Given the description of an element on the screen output the (x, y) to click on. 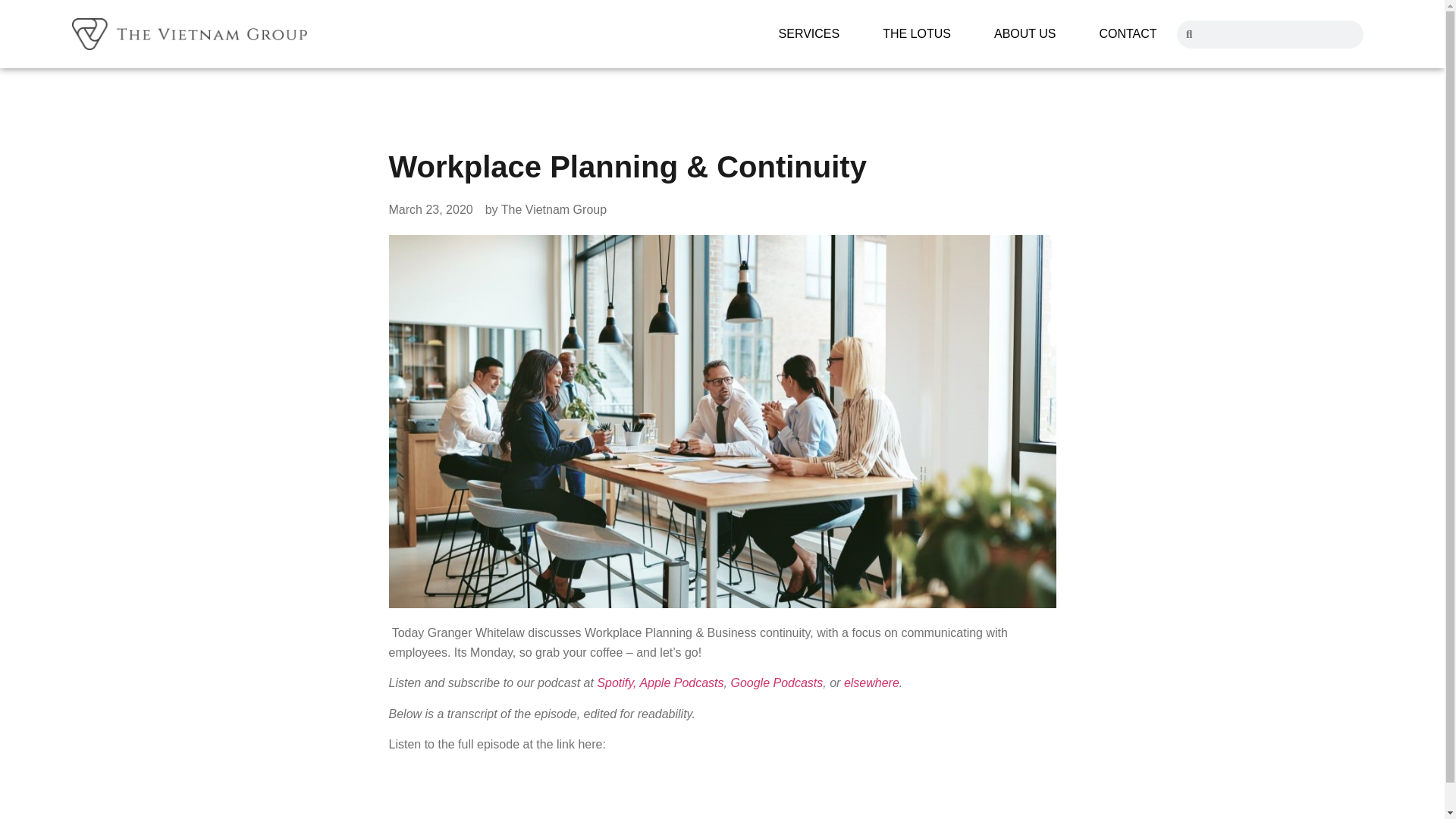
SERVICES (809, 33)
THE LOTUS (917, 33)
Apple Podcasts (681, 682)
ABOUT US (1024, 33)
CONTACT (1127, 33)
Google Podcasts (776, 682)
elsewhere (871, 682)
Spotify, (616, 682)
